Given the description of an element on the screen output the (x, y) to click on. 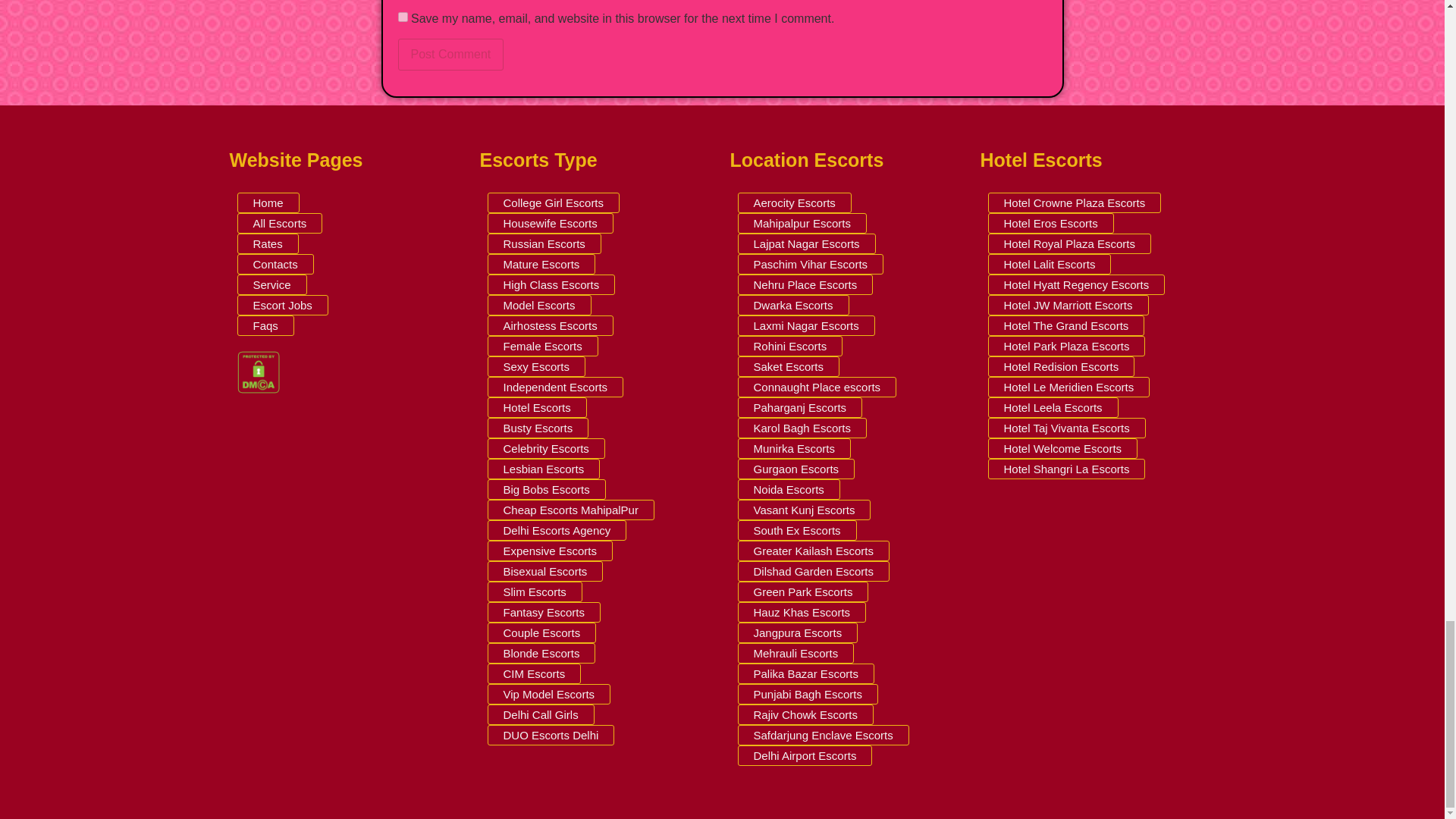
Home (266, 202)
Female Escorts (541, 345)
Model Escorts (538, 304)
Mature Escorts (540, 263)
Faqs (264, 325)
Independent Escorts (554, 386)
Housewife Escorts (549, 222)
Sexy Escorts (535, 366)
Rates (266, 243)
Russian Escorts (542, 243)
College Girl Escorts (553, 202)
Contacts (274, 263)
yes (402, 17)
Airhostess Escorts (549, 325)
High Class Escorts (550, 284)
